Given the description of an element on the screen output the (x, y) to click on. 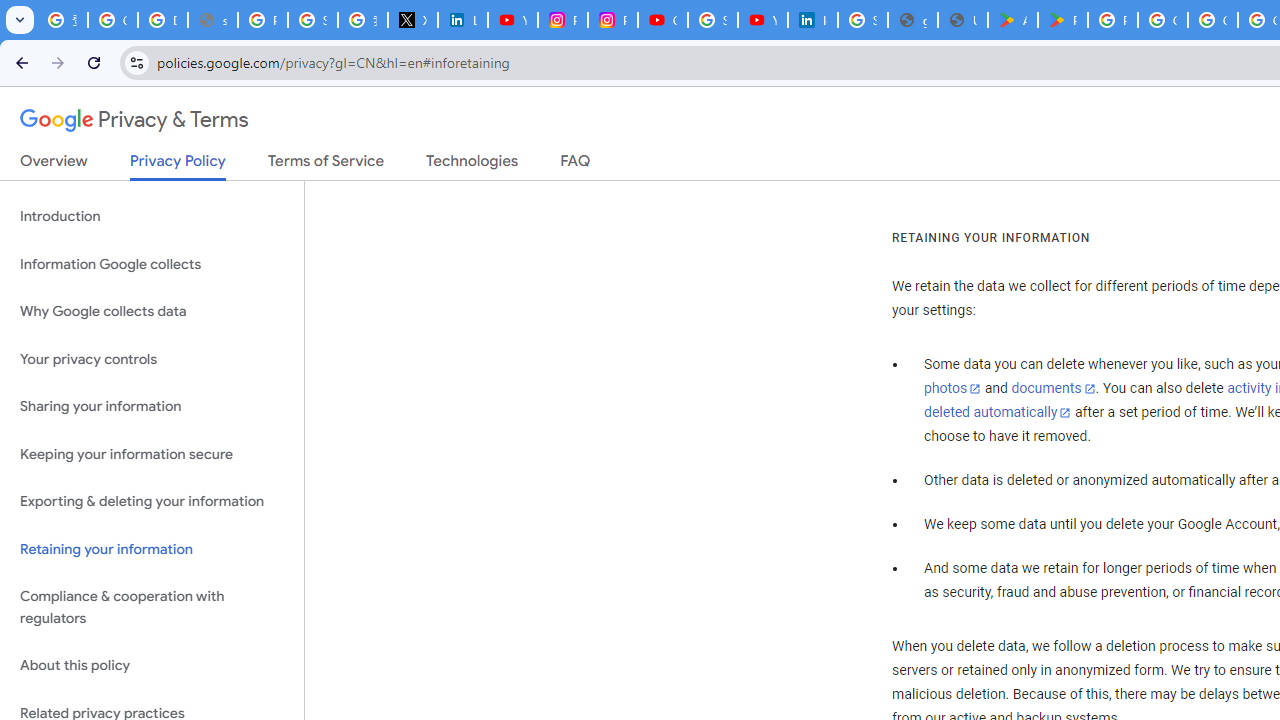
documents (1053, 389)
Privacy Help Center - Policies Help (262, 20)
YouTube Content Monetization Policies - How YouTube Works (512, 20)
LinkedIn Privacy Policy (462, 20)
